Given the description of an element on the screen output the (x, y) to click on. 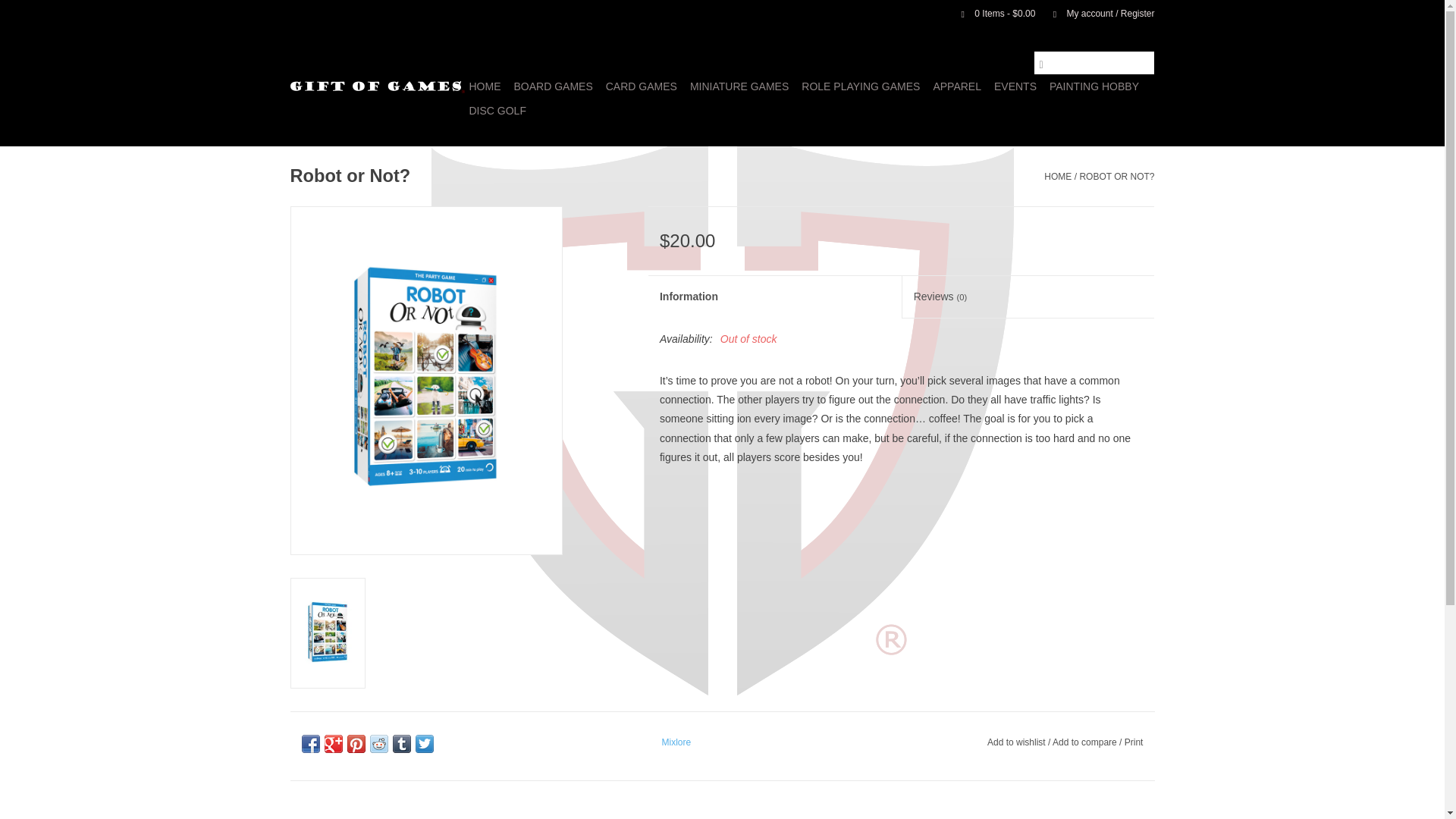
My account (1096, 13)
BOARD GAMES (552, 86)
CARD GAMES (641, 86)
Cart (992, 13)
Board Games (552, 86)
Card Games (641, 86)
Gift of Games (376, 86)
HOME (484, 86)
